Given the description of an element on the screen output the (x, y) to click on. 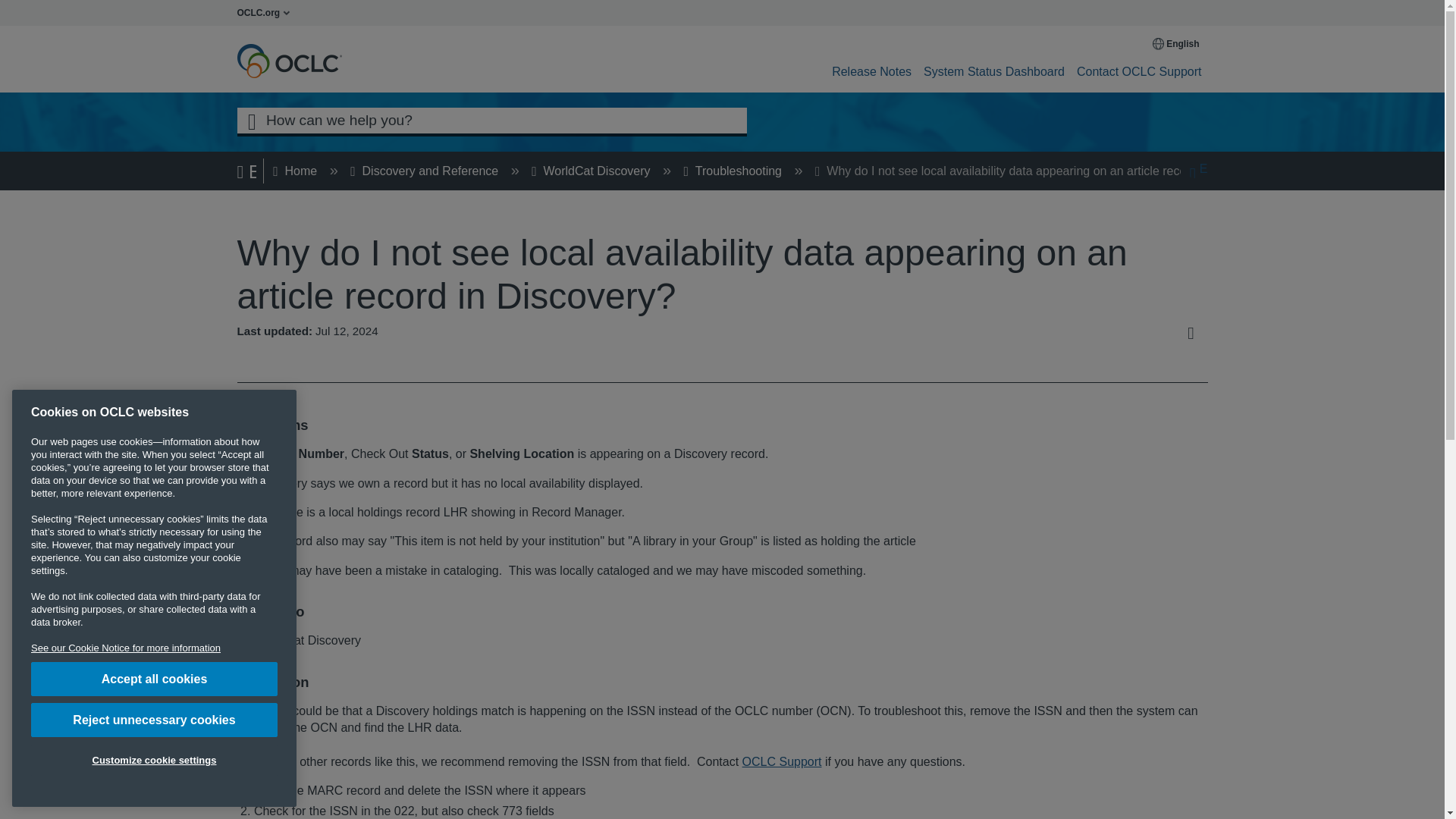
WorldCat Discovery (592, 170)
System Status Dashboard (993, 71)
OCLC.org (266, 12)
Search (250, 120)
OCLC Support (782, 761)
Release Notes (871, 71)
English (1177, 43)
Home (296, 170)
Discovery and Reference (425, 170)
OCLC.org Home (266, 12)
